Given the description of an element on the screen output the (x, y) to click on. 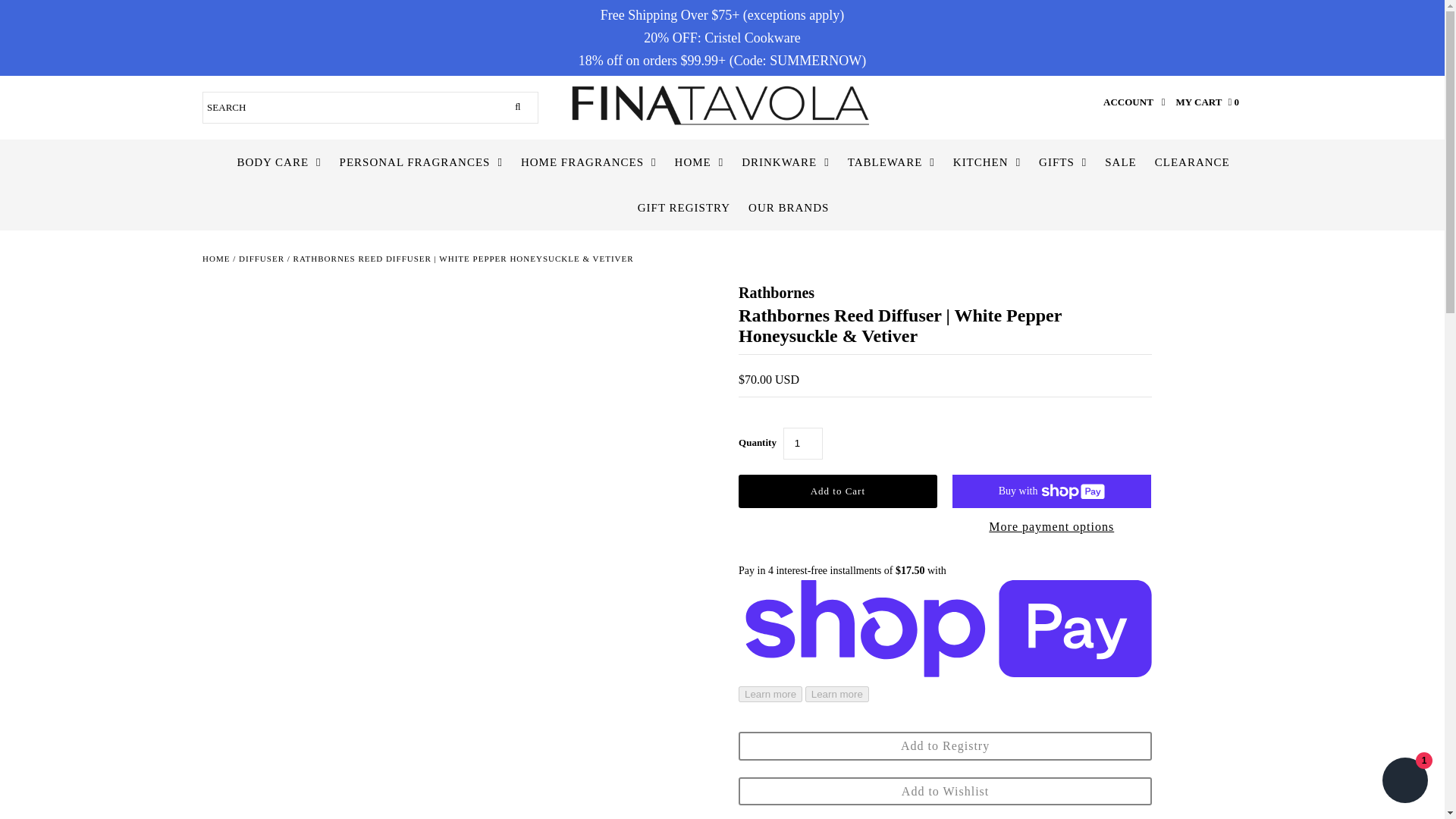
Home (216, 258)
1 (802, 443)
Diffuser (260, 258)
Add to Cart (837, 491)
